Given the description of an element on the screen output the (x, y) to click on. 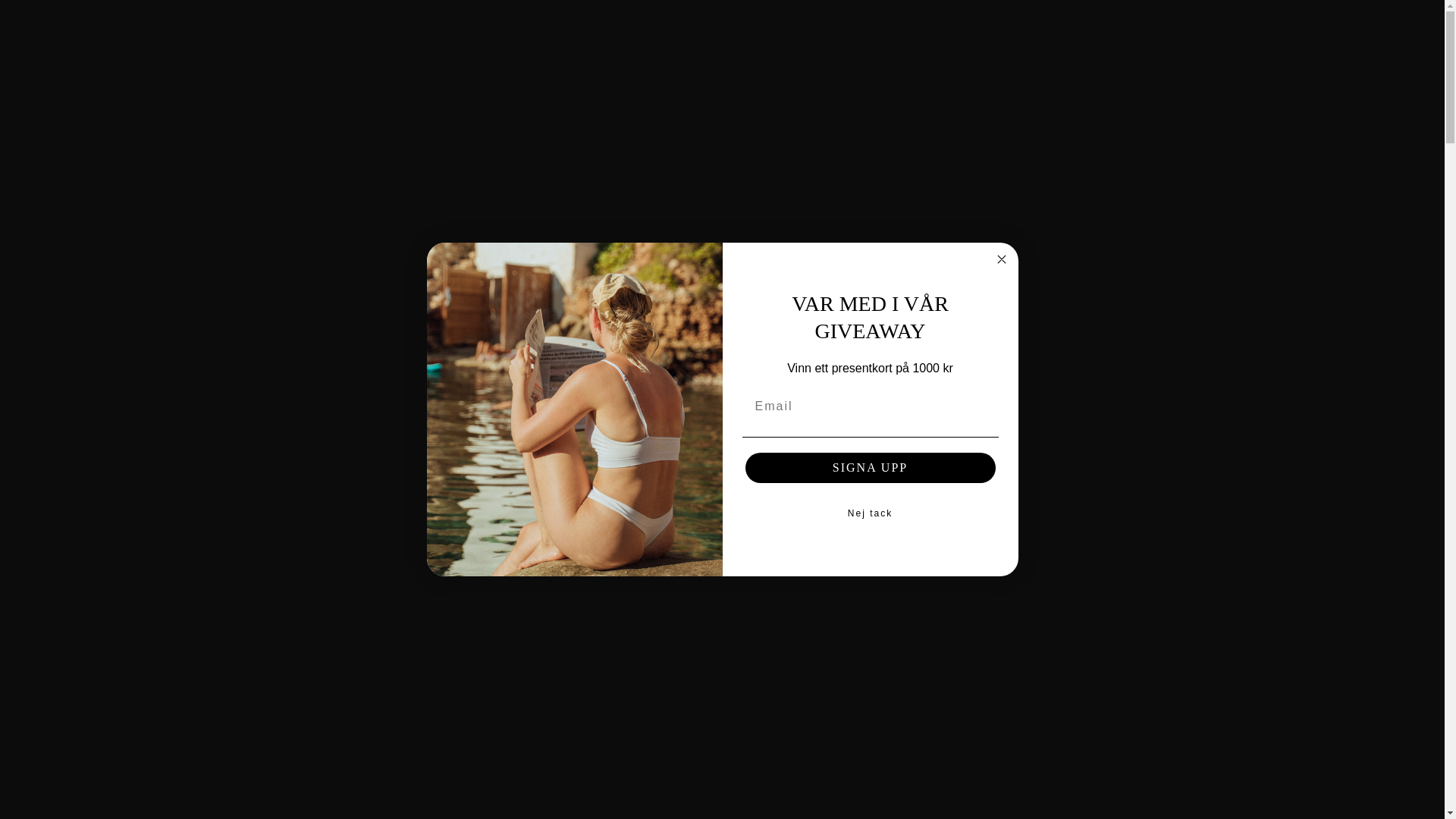
Close dialog 1 (1000, 259)
